Given the description of an element on the screen output the (x, y) to click on. 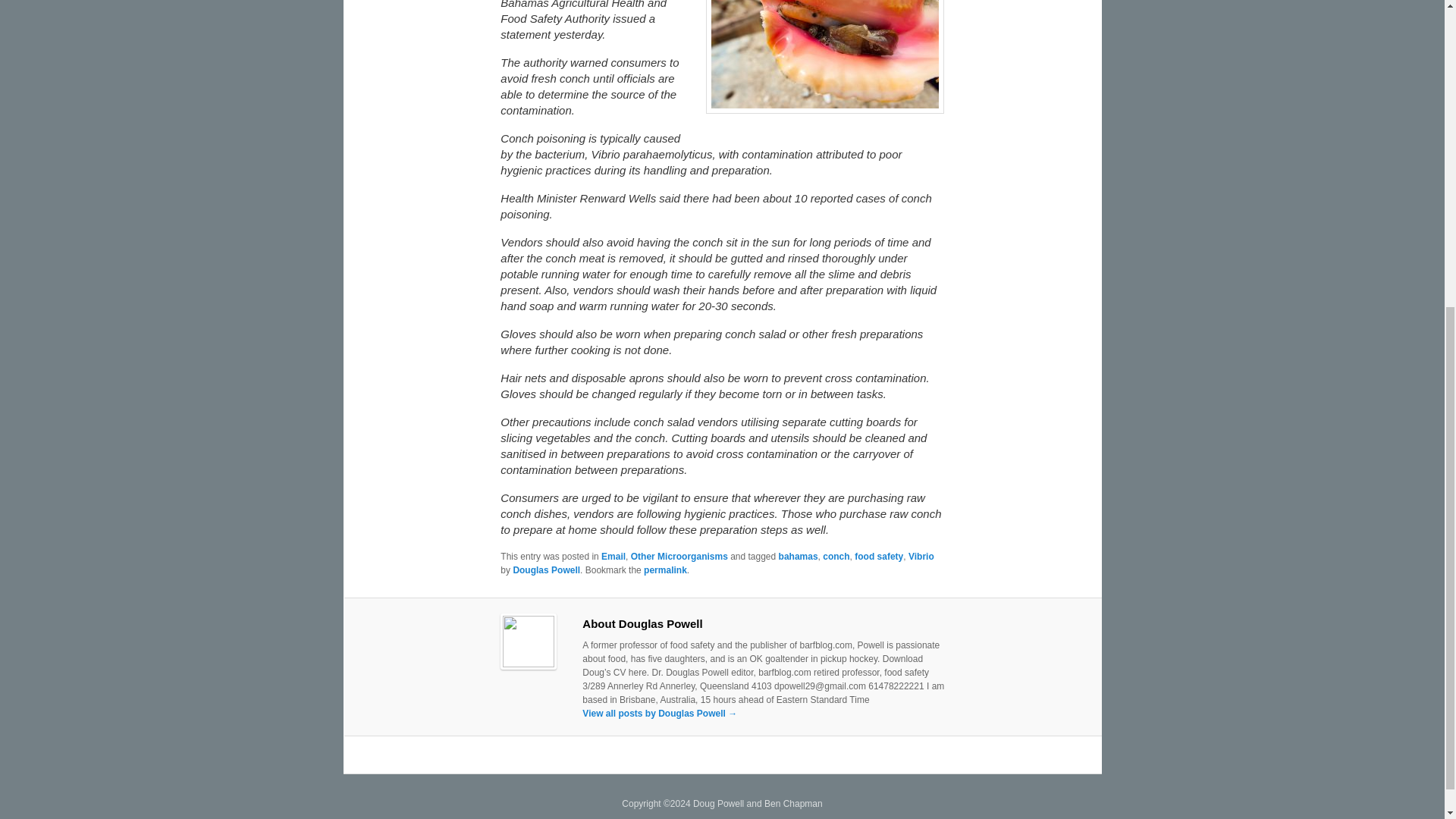
Email (613, 556)
